Given the description of an element on the screen output the (x, y) to click on. 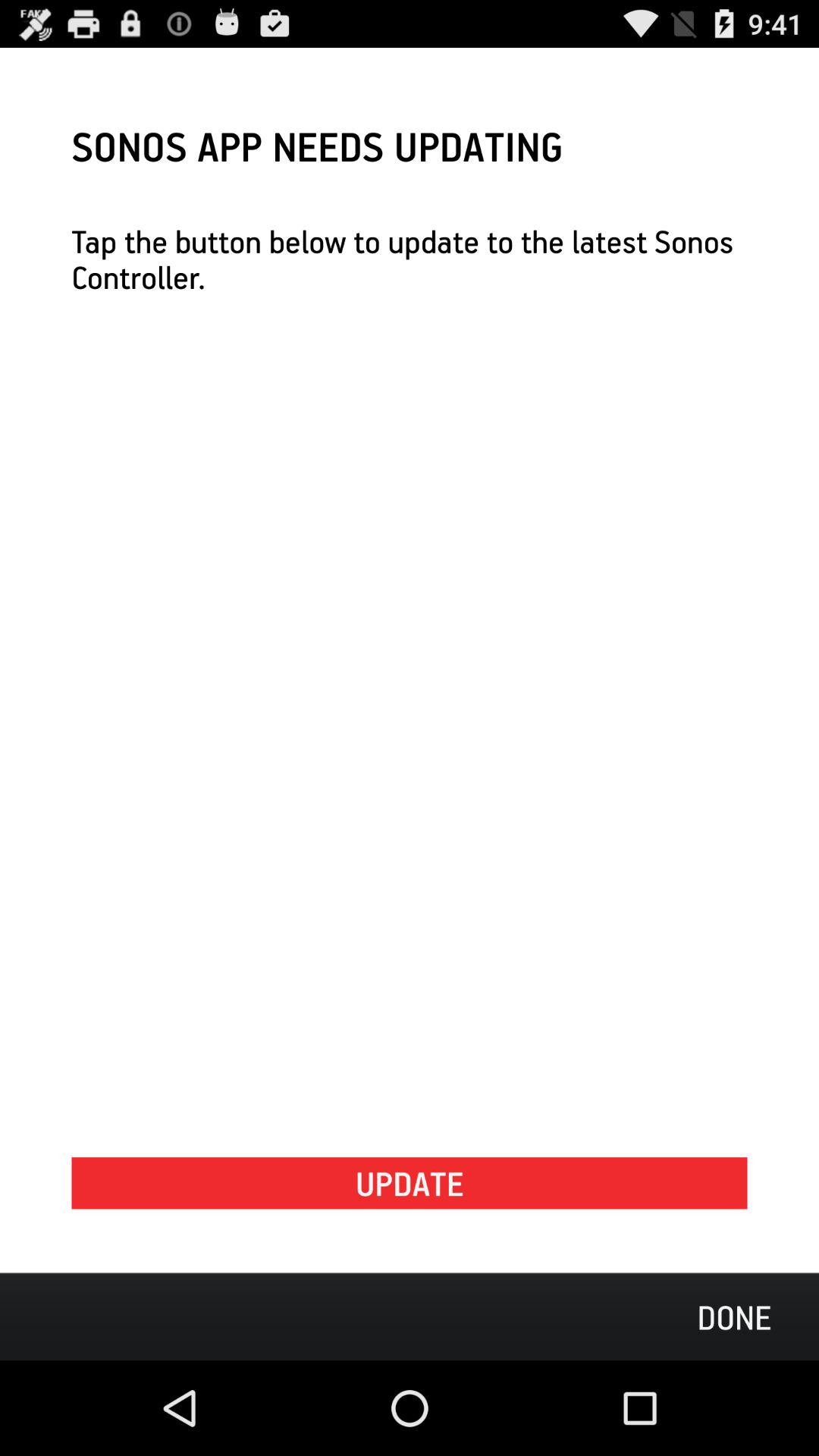
scroll to the done icon (734, 1316)
